Given the description of an element on the screen output the (x, y) to click on. 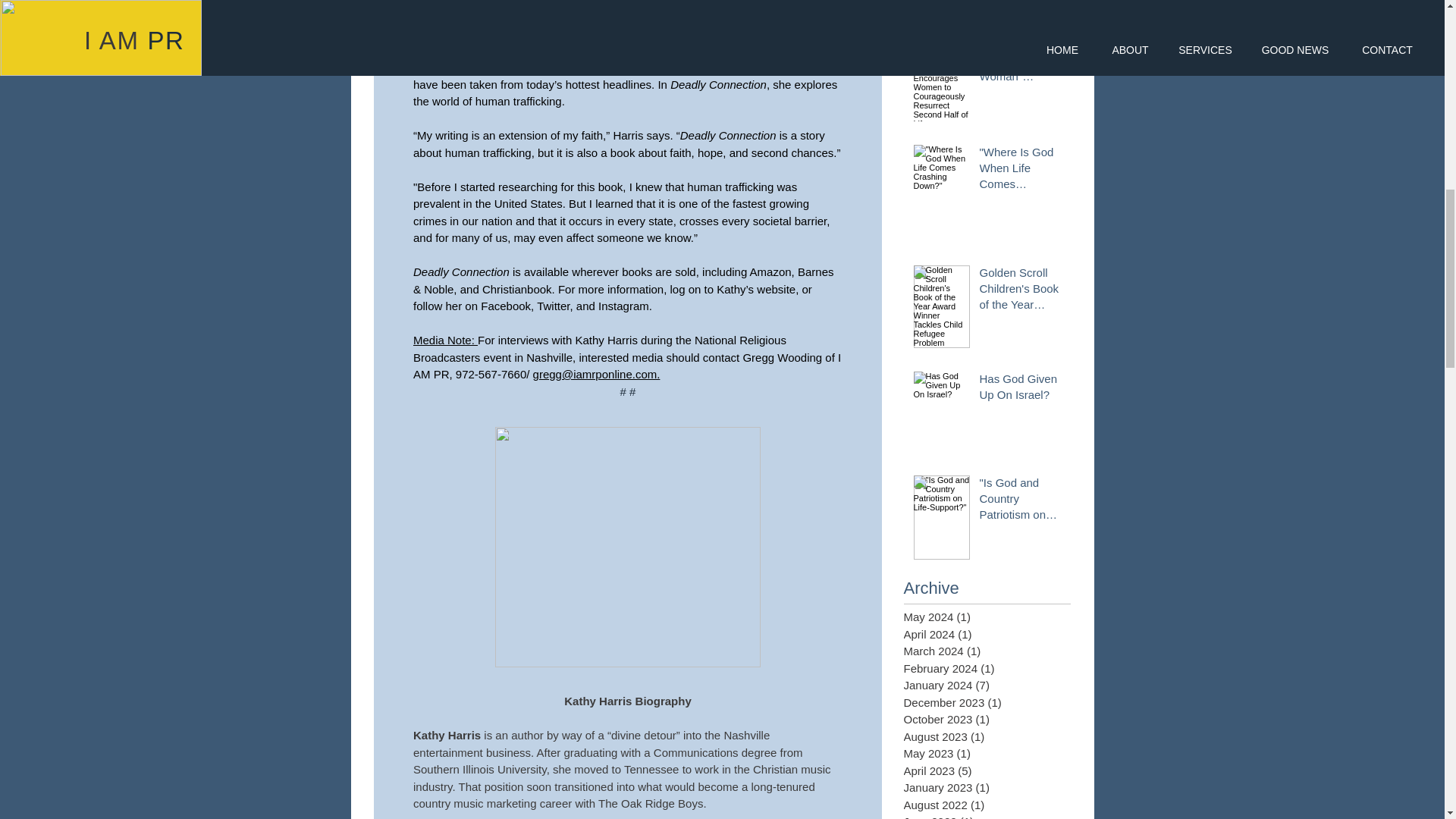
Instagram (623, 305)
"Where Is God When Life Comes Crashing Down?" (1020, 171)
website (775, 287)
Has God Given Up On Israel? (1020, 389)
Facebook (505, 305)
Twitter (553, 305)
